Given the description of an element on the screen output the (x, y) to click on. 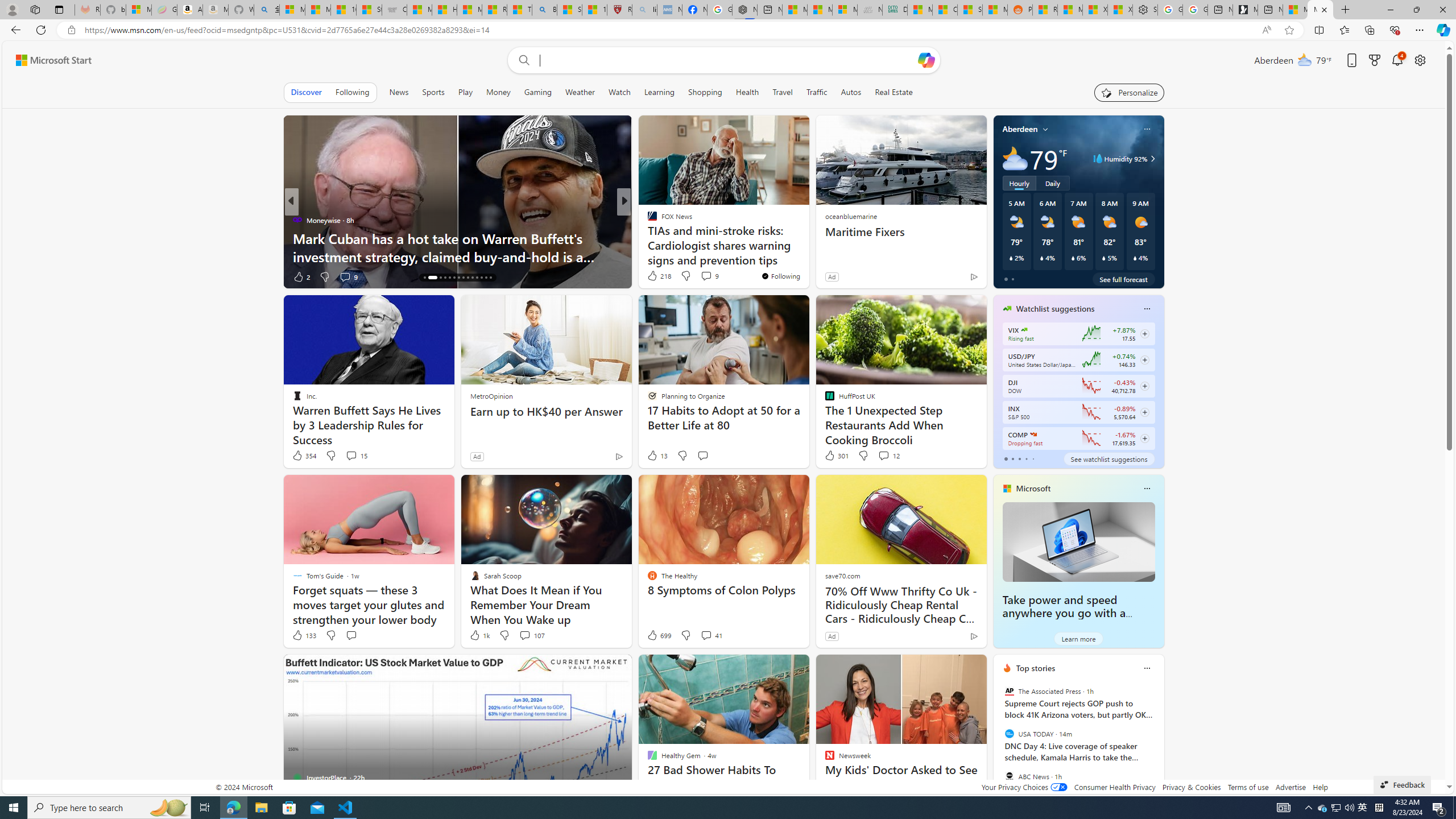
save70.com (842, 574)
Hide this story (952, 668)
See watchlist suggestions (1108, 459)
AutomationID: tab-16 (428, 277)
Top stories (1035, 668)
